Given the description of an element on the screen output the (x, y) to click on. 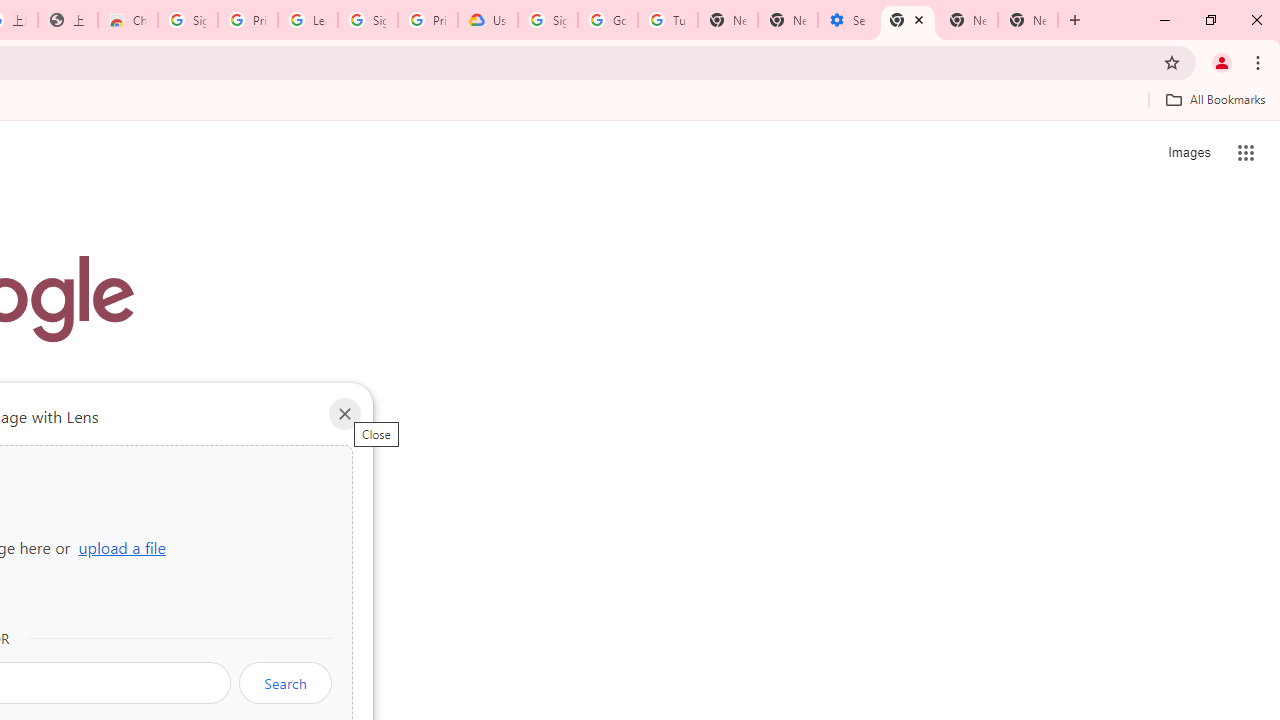
Chrome Web Store - Color themes by Chrome (127, 20)
Settings - System (847, 20)
New Tab (727, 20)
Sign in - Google Accounts (548, 20)
upload a file (122, 547)
